Given the description of an element on the screen output the (x, y) to click on. 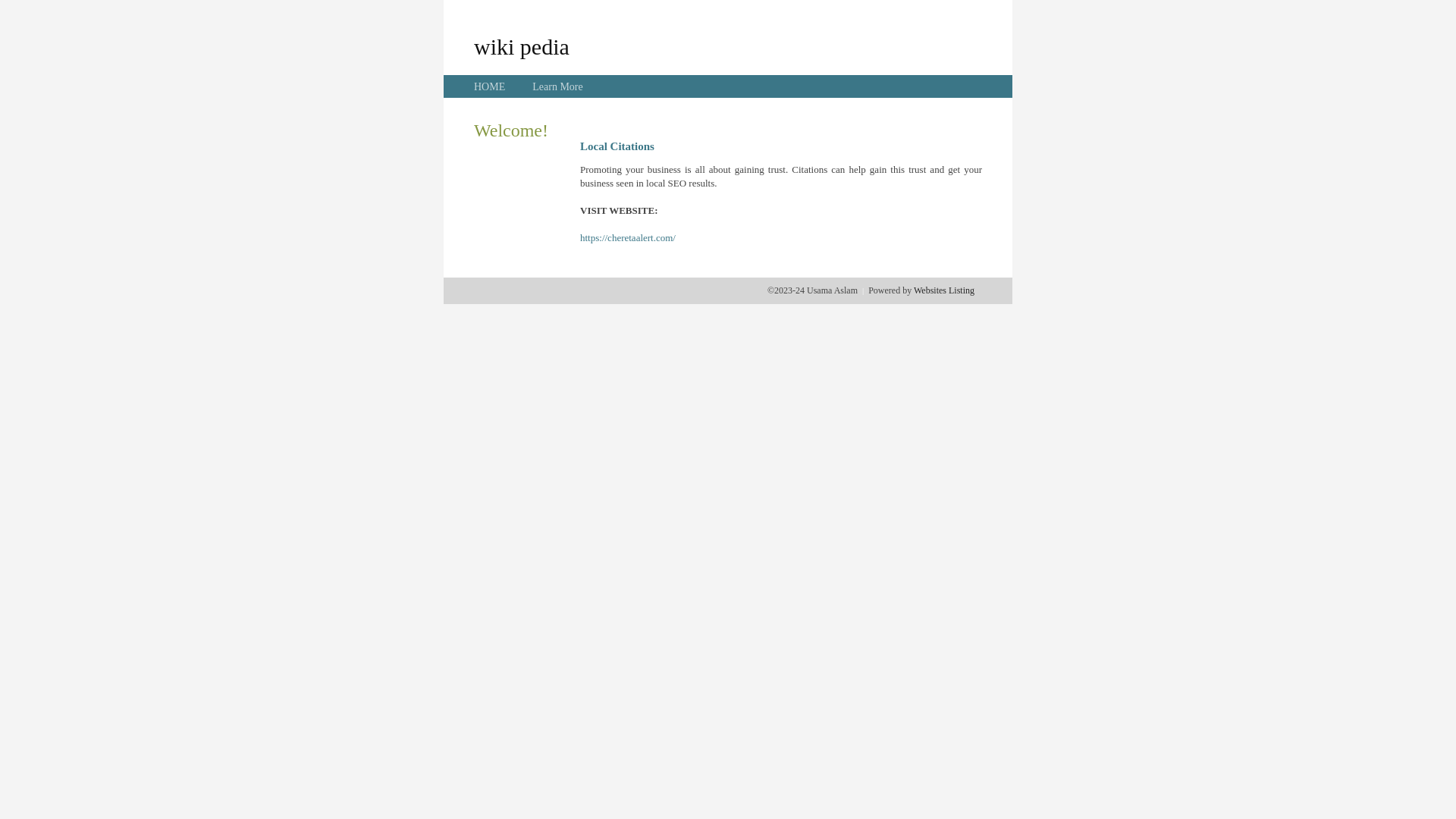
wiki pedia Element type: text (521, 46)
https://cheretaalert.com/ Element type: text (627, 237)
Websites Listing Element type: text (943, 290)
Learn More Element type: text (557, 86)
HOME Element type: text (489, 86)
